Given the description of an element on the screen output the (x, y) to click on. 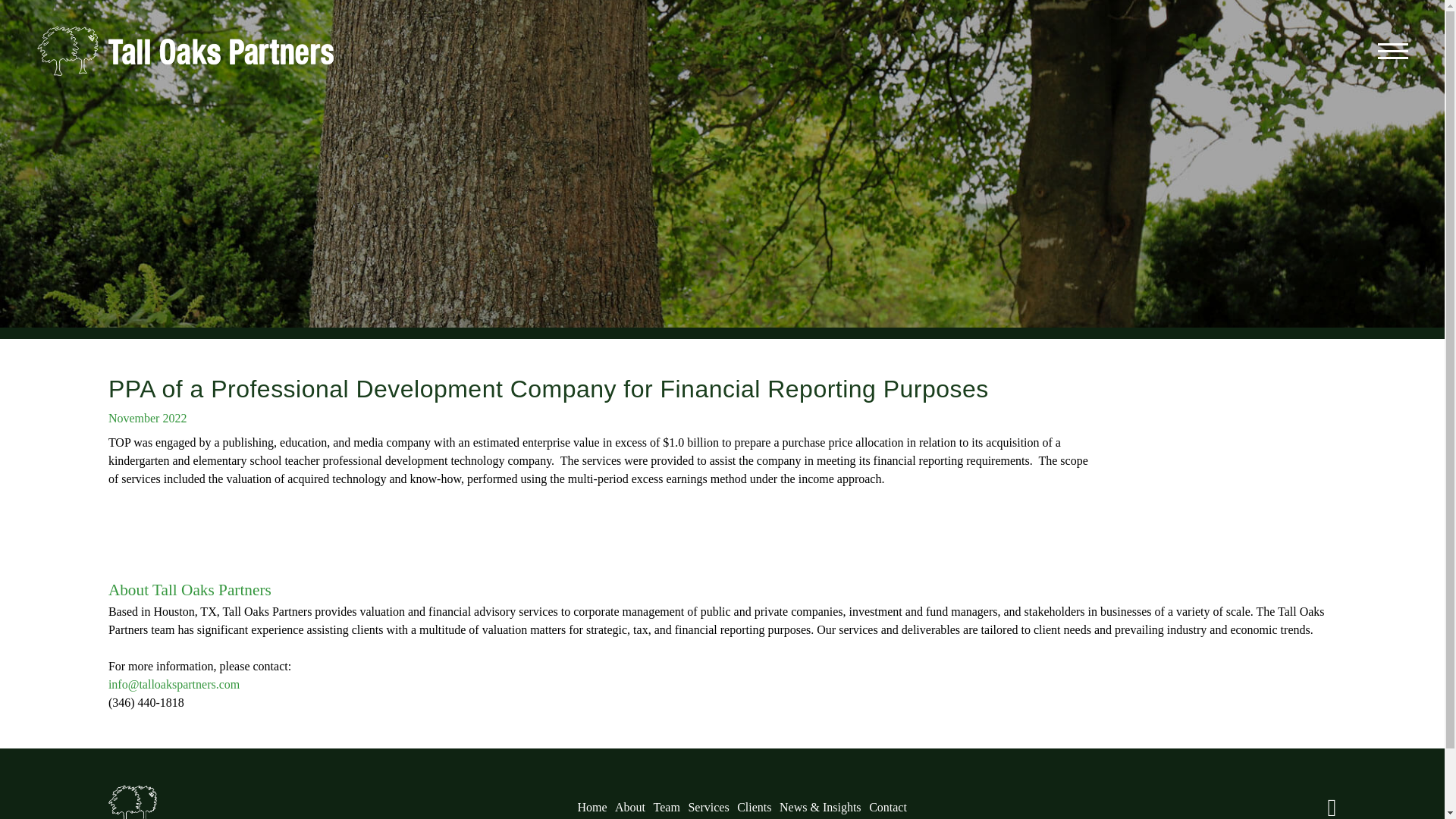
Contact (888, 807)
About (629, 807)
Clients (753, 807)
Home (591, 807)
Team (666, 807)
Services (708, 807)
